Given the description of an element on the screen output the (x, y) to click on. 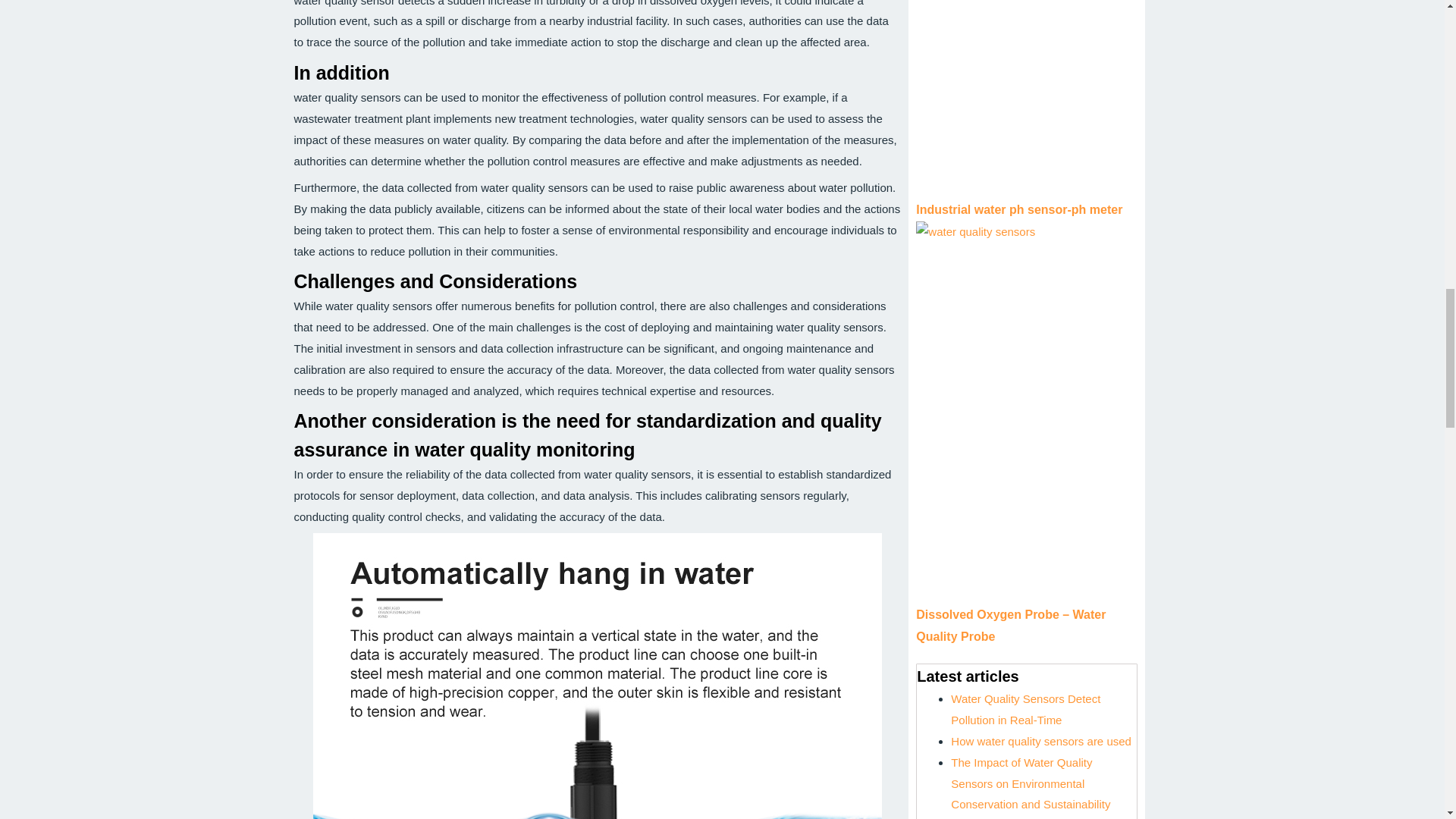
Industrial water ph sensor-ph meter (1018, 209)
Water Quality Sensors Detect Pollution in Real-Time (1025, 709)
How water quality sensors are used (1040, 740)
